Given the description of an element on the screen output the (x, y) to click on. 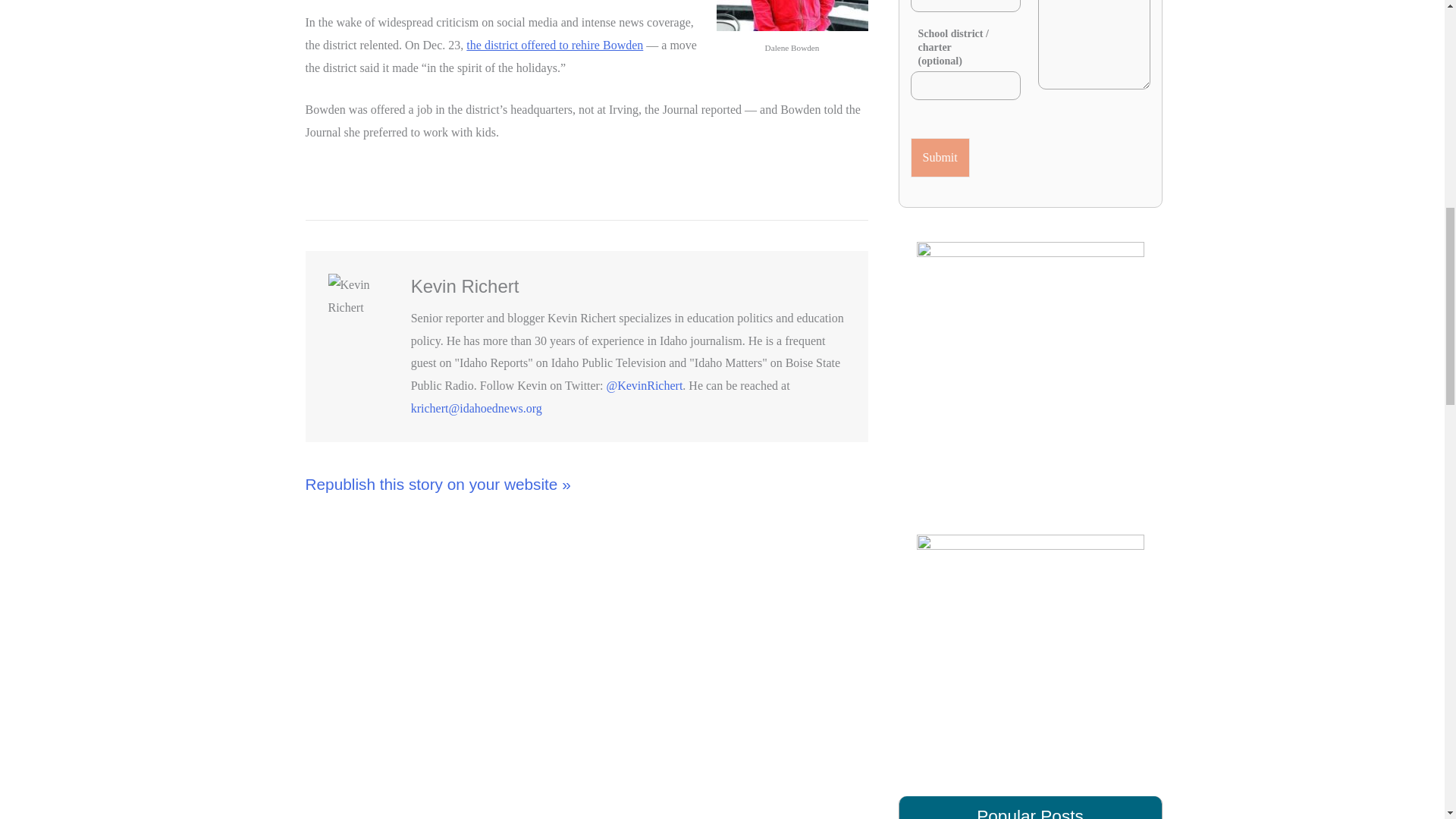
Submit (939, 157)
the district offered to rehire Bowden (554, 44)
